Given the description of an element on the screen output the (x, y) to click on. 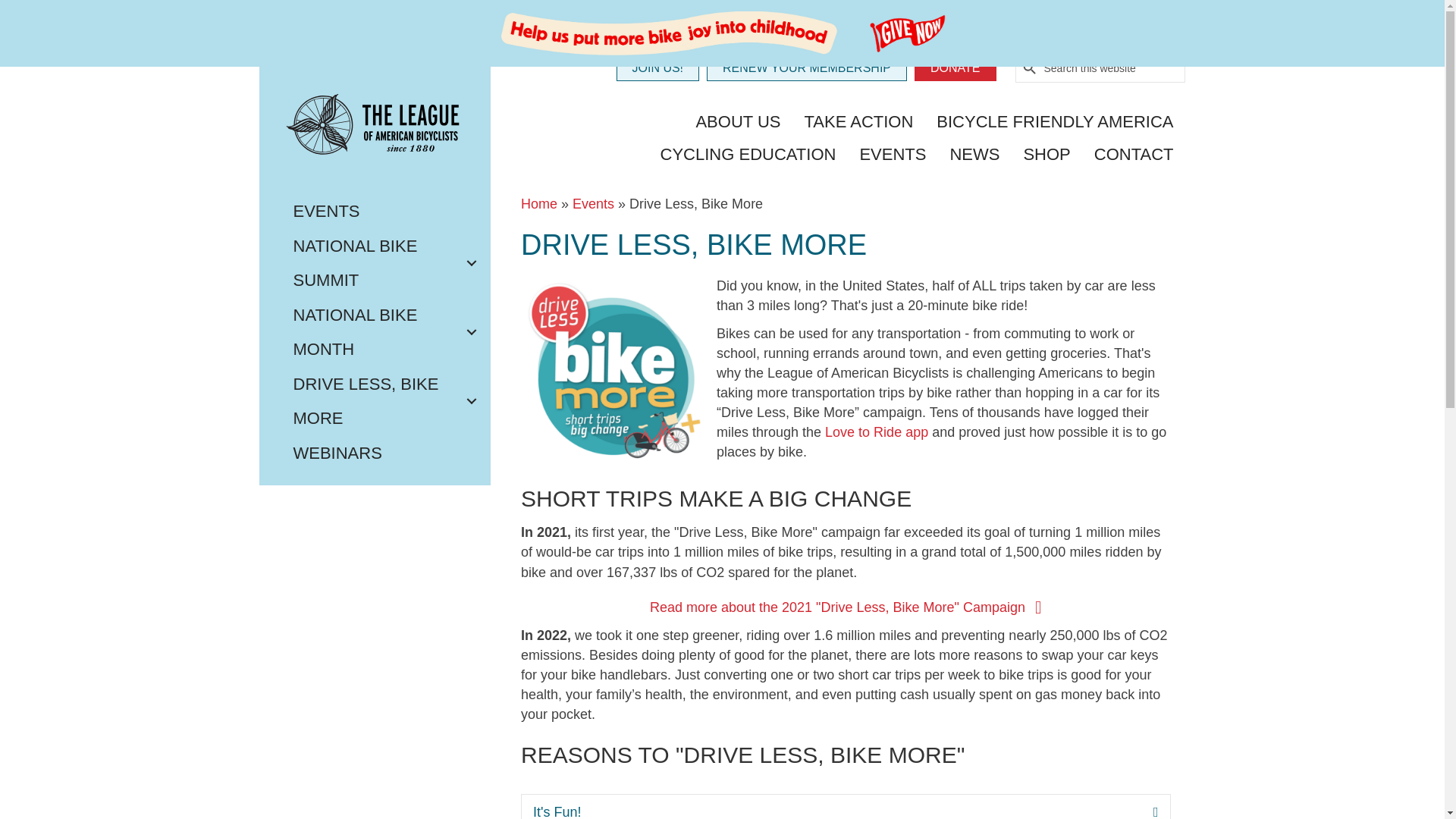
ABOUT US (738, 123)
RENEW YOUR MEMBERSHIP (806, 68)
JOIN US! (656, 68)
TAKE ACTION (858, 123)
The League of American Bicyclists (375, 127)
DONATE (954, 68)
Search Button (1029, 67)
